Given the description of an element on the screen output the (x, y) to click on. 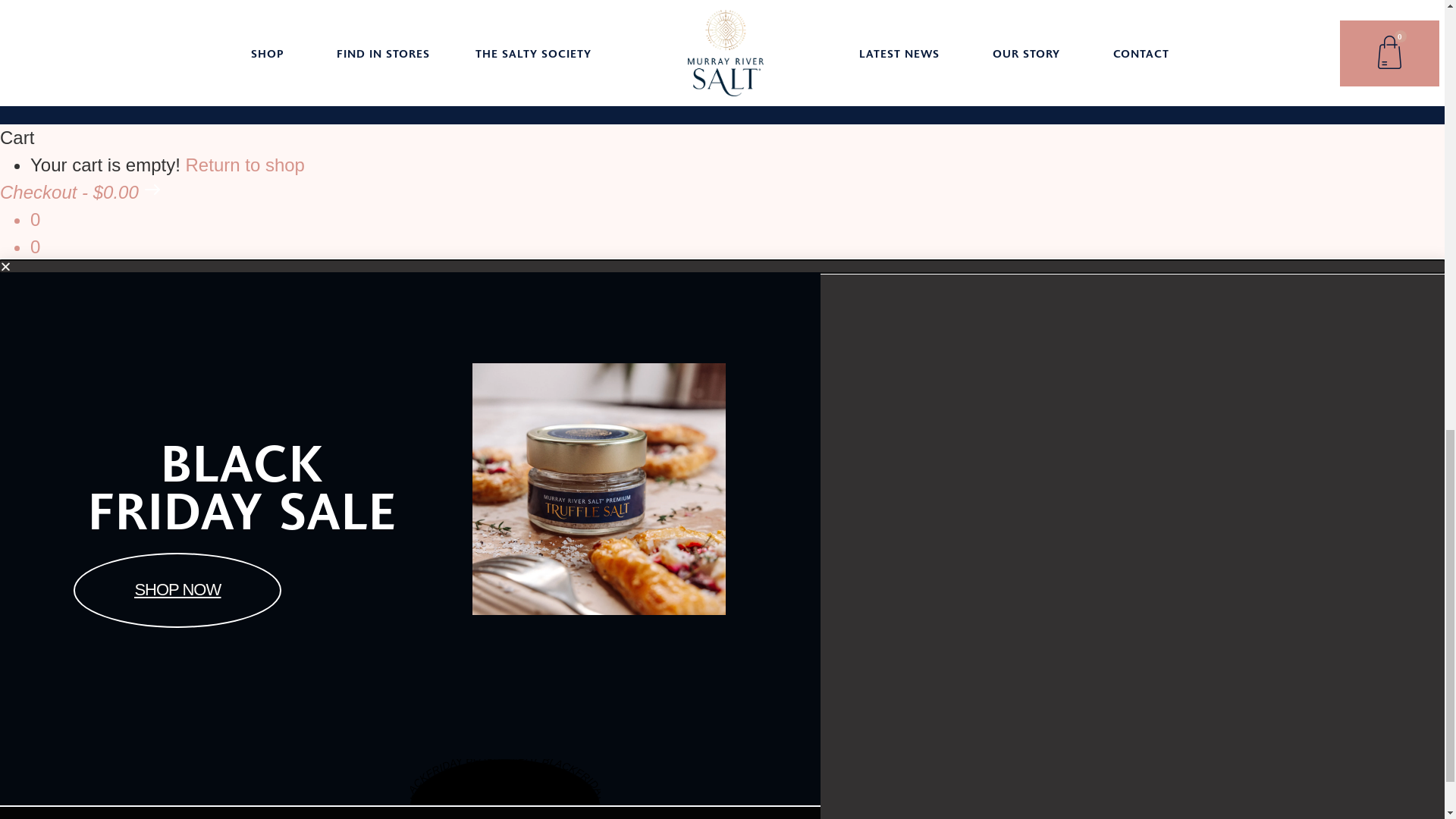
Sustainability and The Environment Element type: text (871, 683)
The Salty Society Element type: text (663, 673)
Privacy Element type: text (1068, 618)
Our Story Element type: text (871, 618)
FAQ Element type: text (1068, 646)
Meet The Family Element type: text (871, 646)
Harvest Site Element type: text (871, 721)
Find In Stores Element type: text (663, 646)
History of Salt in our Region Element type: text (871, 748)
Australian Made Element type: text (871, 803)
All about Salt Element type: text (871, 775)
Shop Online Element type: text (663, 618)
Sitemap Element type: text (1068, 673)
